Given the description of an element on the screen output the (x, y) to click on. 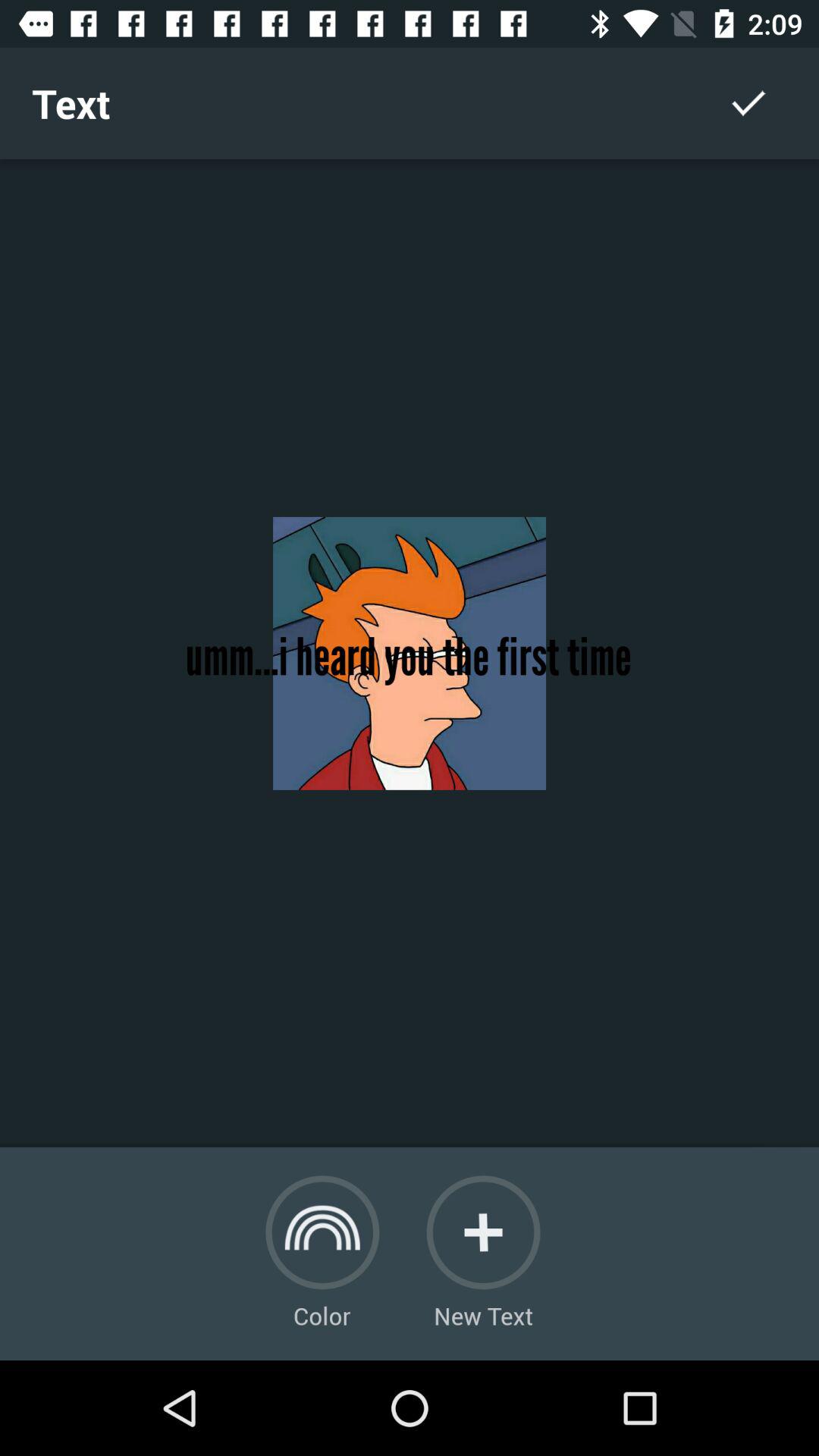
new text (483, 1232)
